Given the description of an element on the screen output the (x, y) to click on. 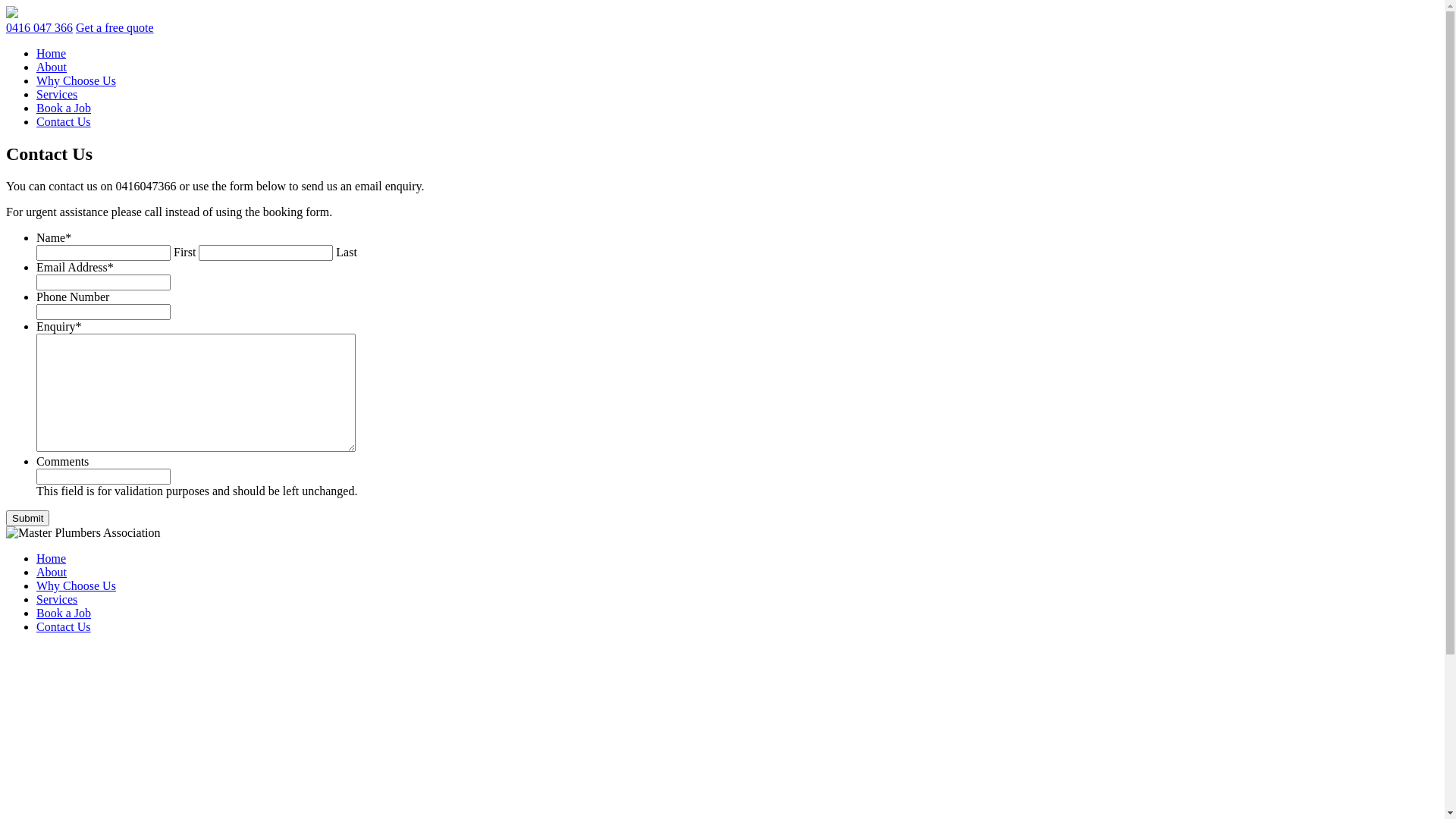
Why Choose Us Element type: text (76, 585)
Home Element type: text (50, 558)
Services Element type: text (56, 599)
Book a Job Element type: text (63, 107)
0416 047 366 Element type: text (39, 27)
Get a free quote Element type: text (114, 27)
Contact Us Element type: text (63, 121)
Contact Us Element type: text (63, 626)
Services Element type: text (56, 93)
About Element type: text (51, 66)
Submit Element type: text (27, 518)
About Element type: text (51, 571)
Why Choose Us Element type: text (76, 80)
Home Element type: text (50, 53)
Book a Job Element type: text (63, 612)
